Given the description of an element on the screen output the (x, y) to click on. 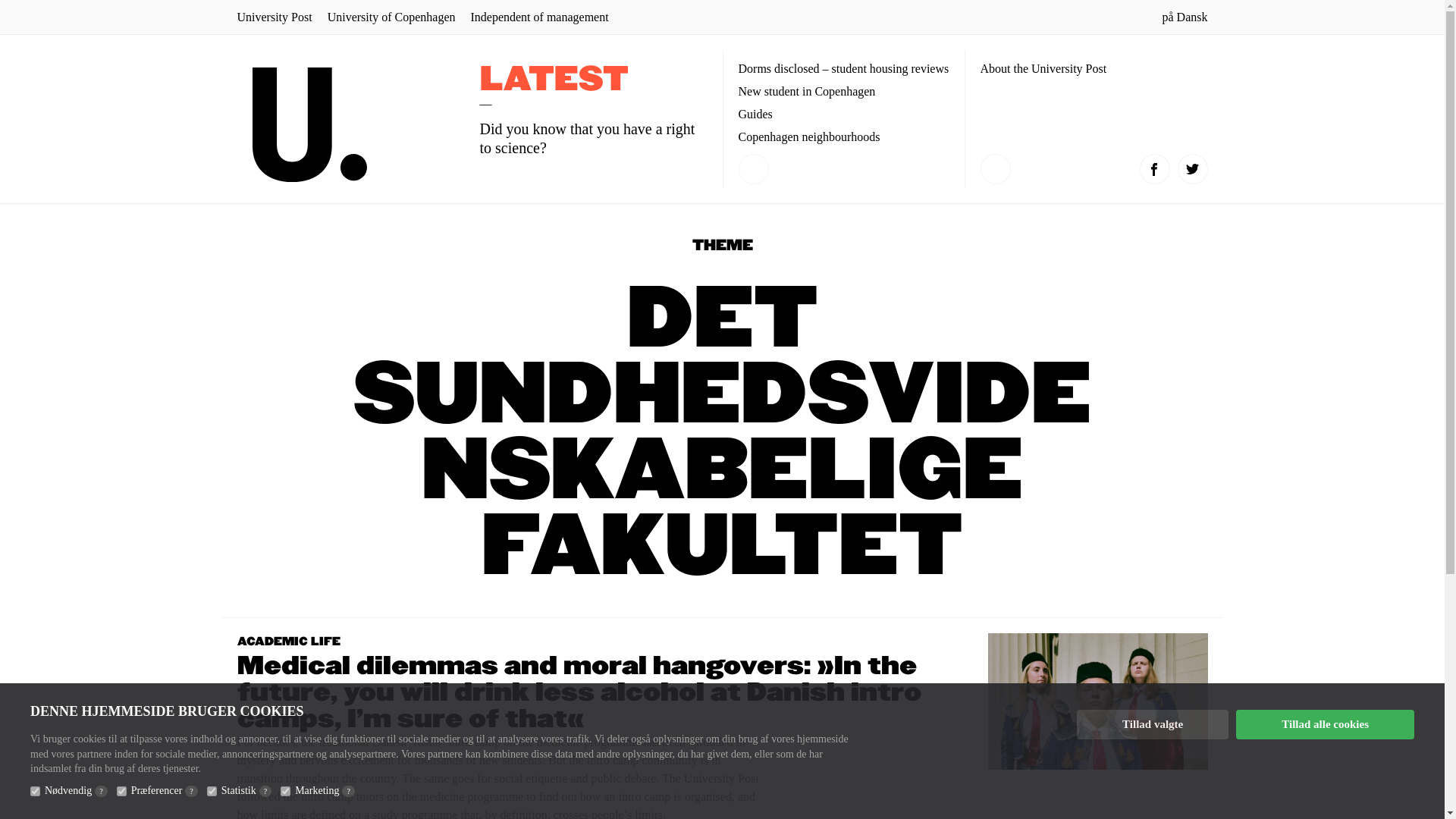
Did you know that you have a right to science? (586, 138)
University Post (273, 17)
Tillad alle cookies (1324, 724)
on (285, 791)
Tillad valgte (1152, 724)
on (121, 791)
on (35, 791)
LATEST (553, 79)
on (211, 791)
